Given the description of an element on the screen output the (x, y) to click on. 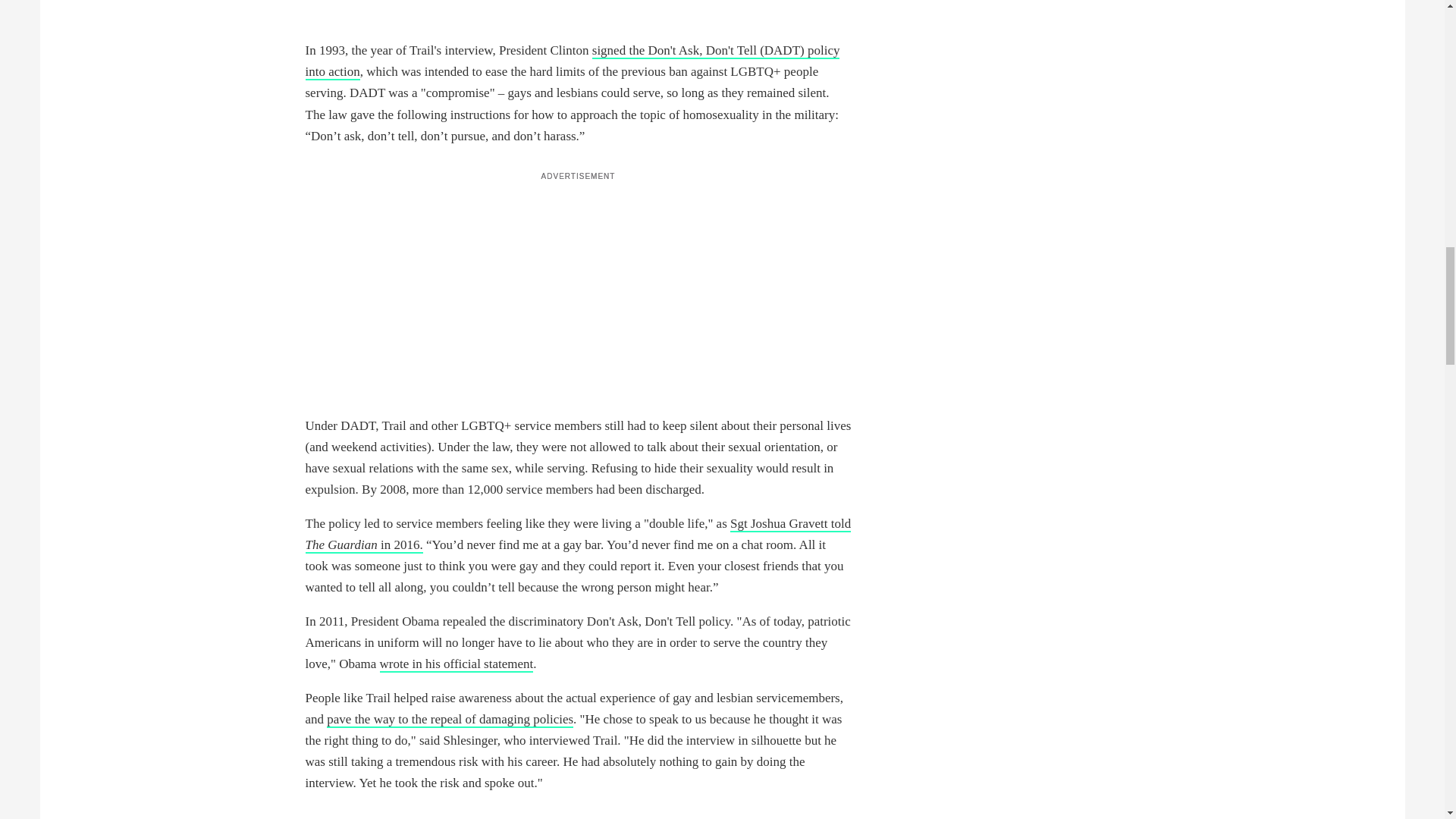
Sgt Joshua Gravett told The Guardian in 2016. (577, 534)
wrote in his official statement (457, 664)
pave the way to the repeal of damaging policies (449, 719)
